Given the description of an element on the screen output the (x, y) to click on. 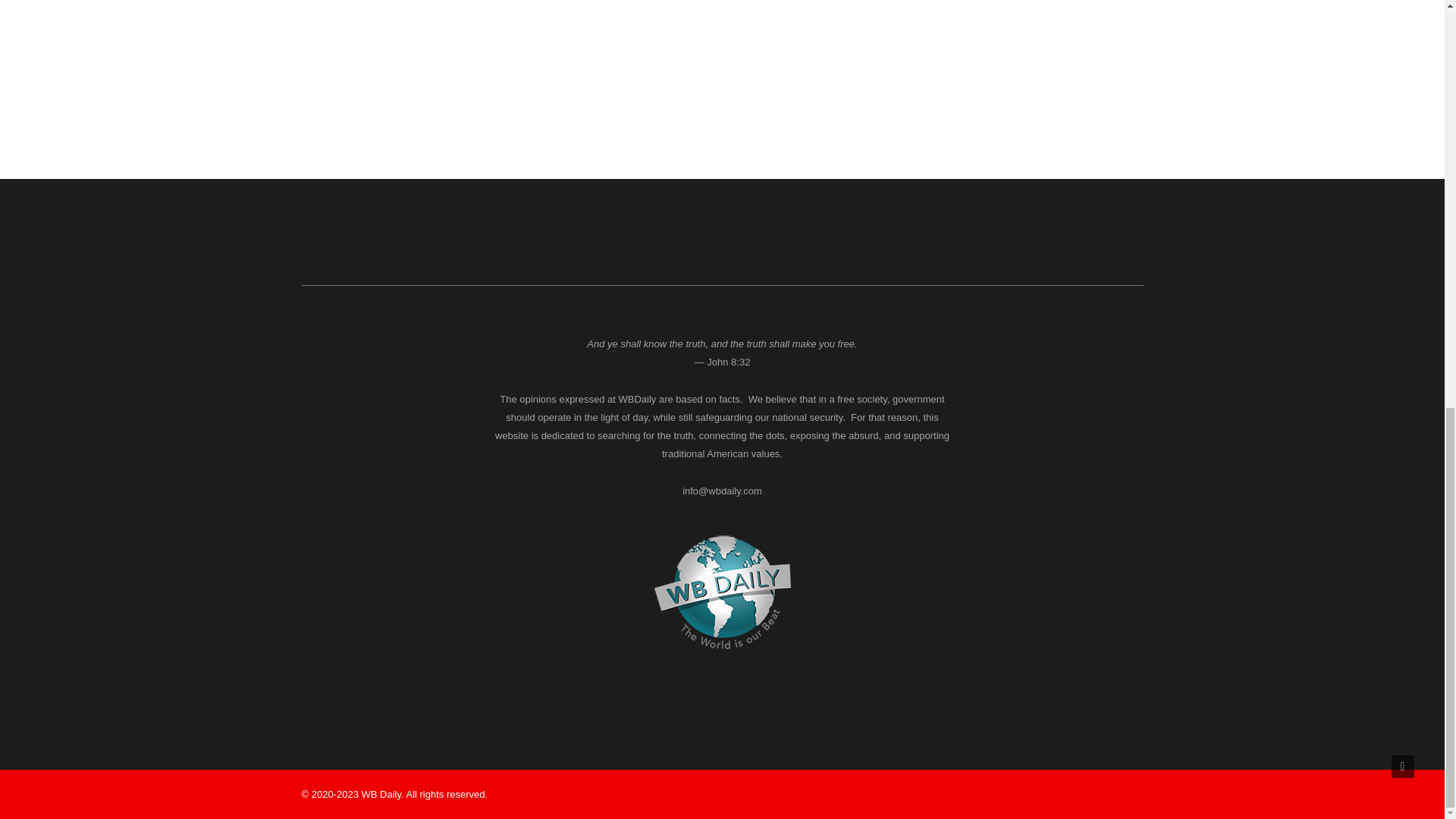
Advertisement (1017, 44)
